Given the description of an element on the screen output the (x, y) to click on. 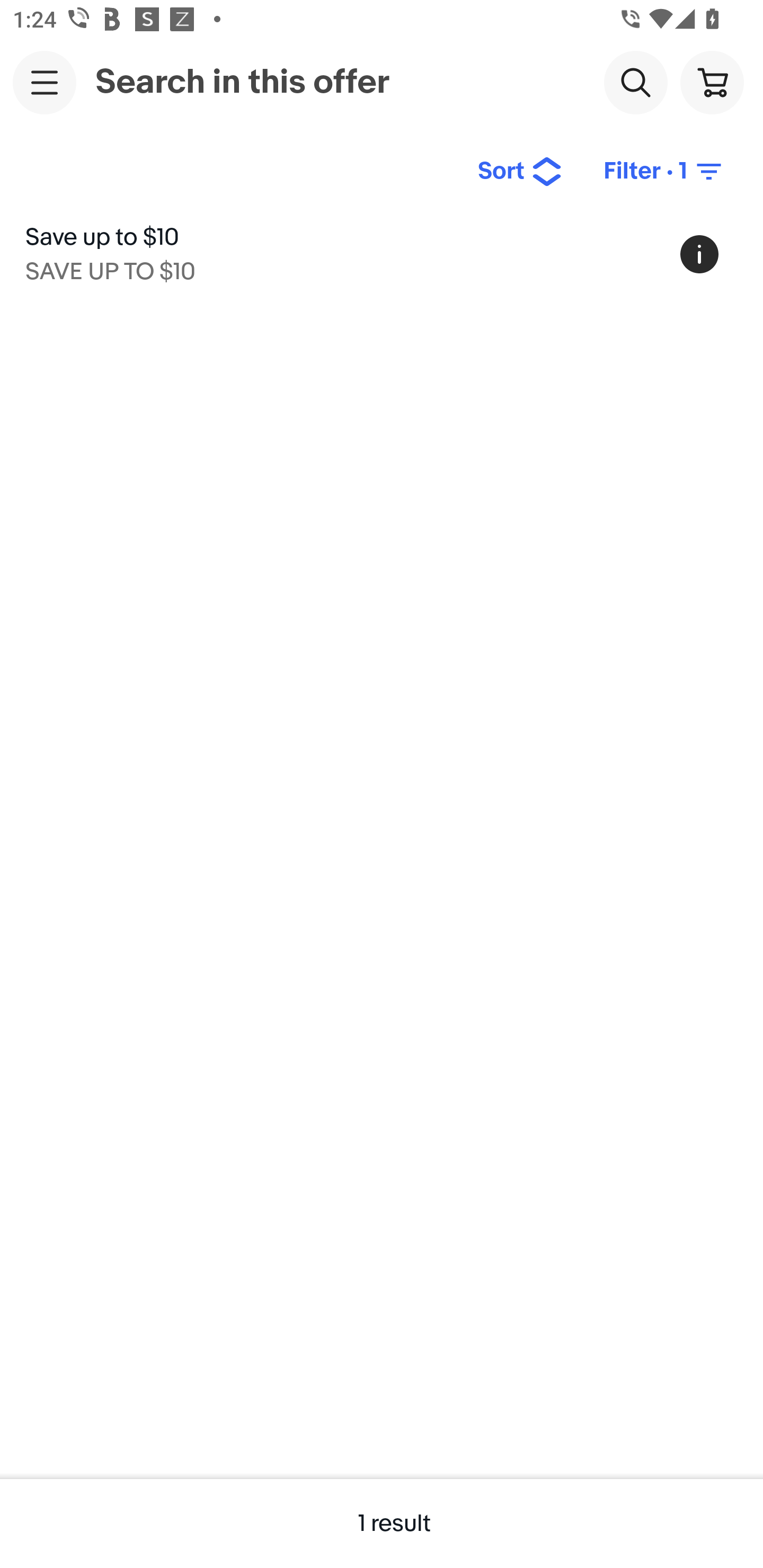
Main navigation, open (44, 82)
Search (635, 81)
Cart button shopping cart (711, 81)
Sort (520, 171)
Filter • 1 Filter (1 applied) (663, 171)
More information regarding this promotion, button (699, 253)
SAVE UP TO $10 (110, 267)
